Given the description of an element on the screen output the (x, y) to click on. 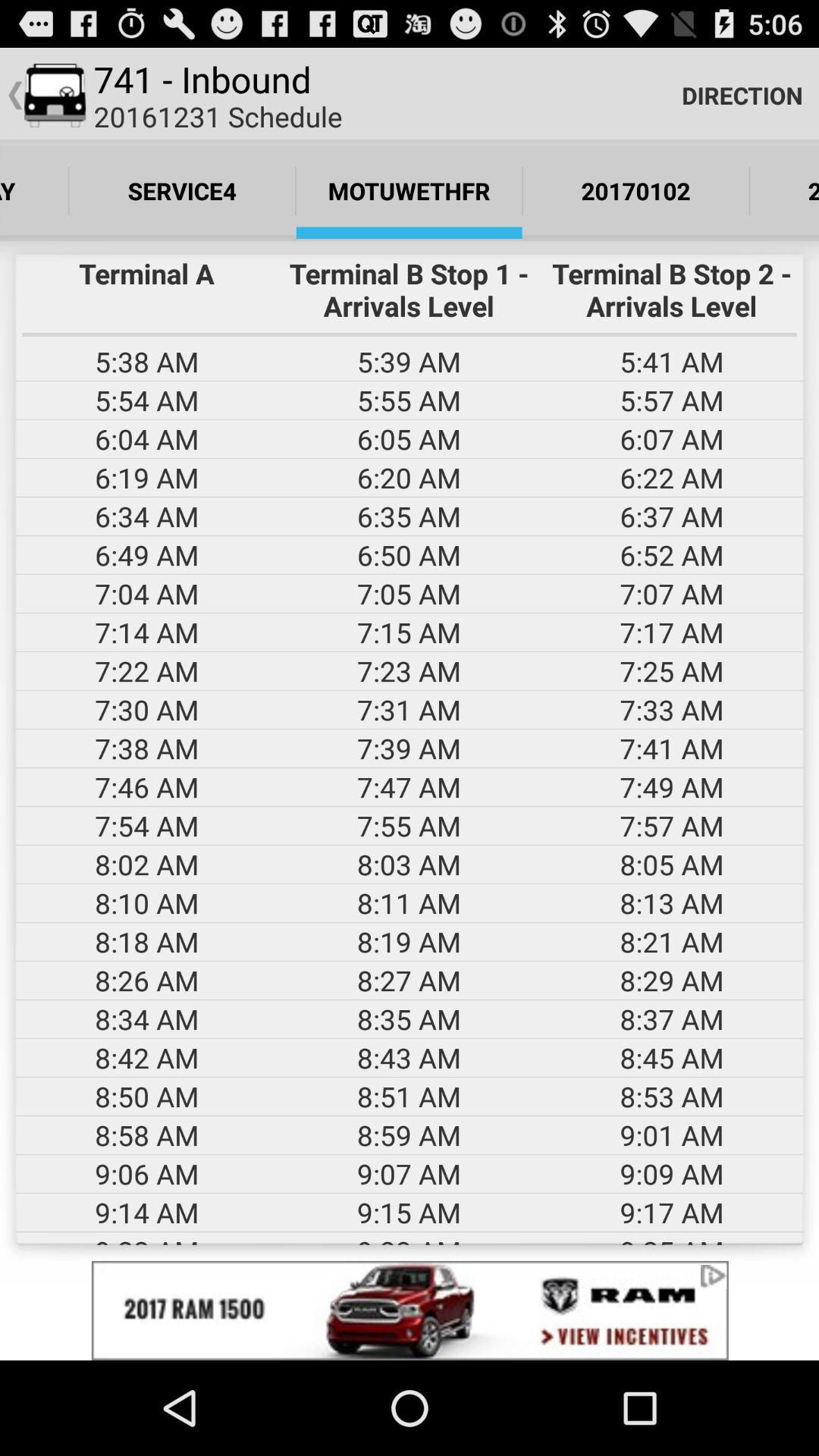
go to advertisement page (409, 1310)
